Given the description of an element on the screen output the (x, y) to click on. 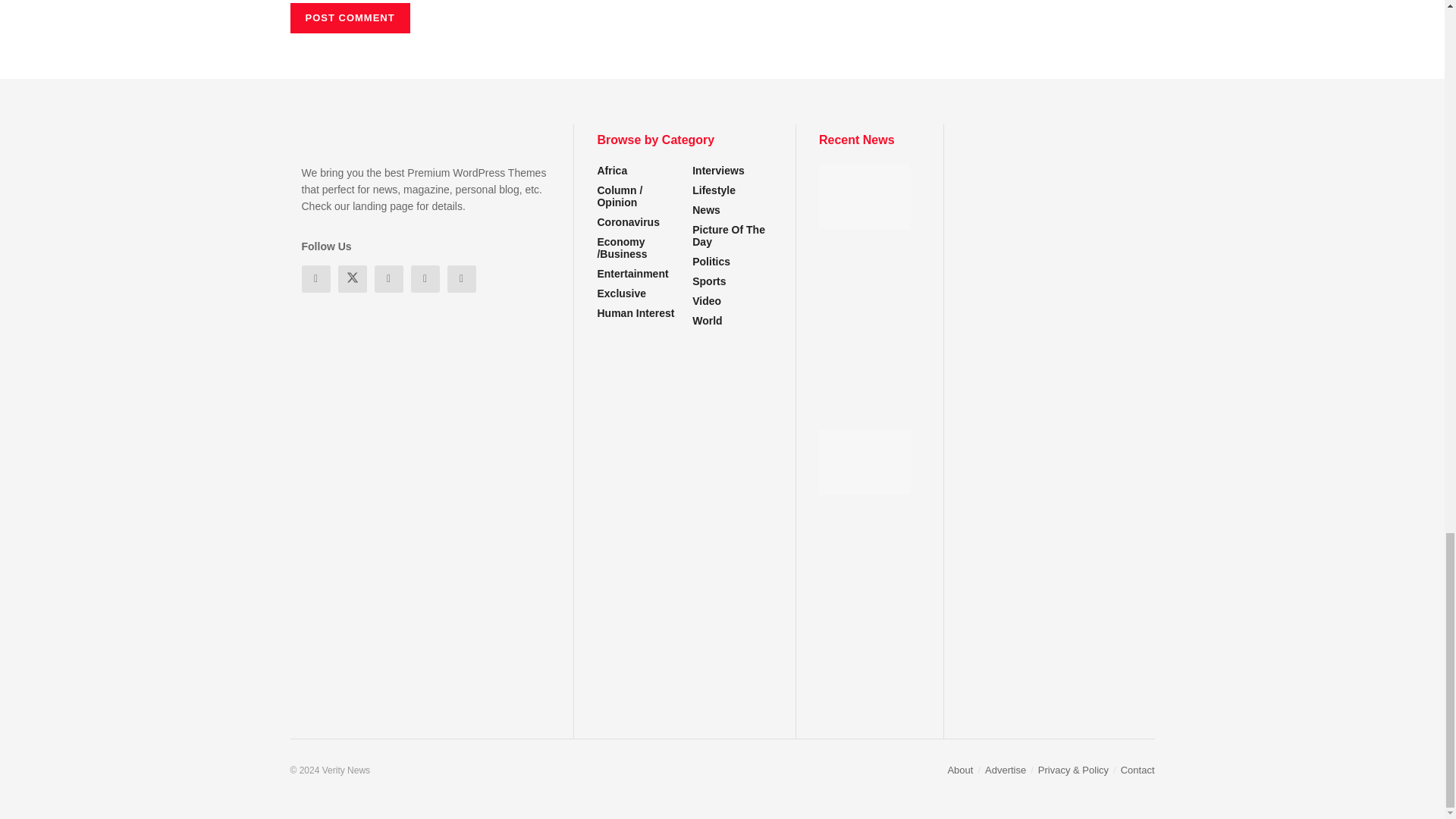
Post Comment (349, 18)
